Given the description of an element on the screen output the (x, y) to click on. 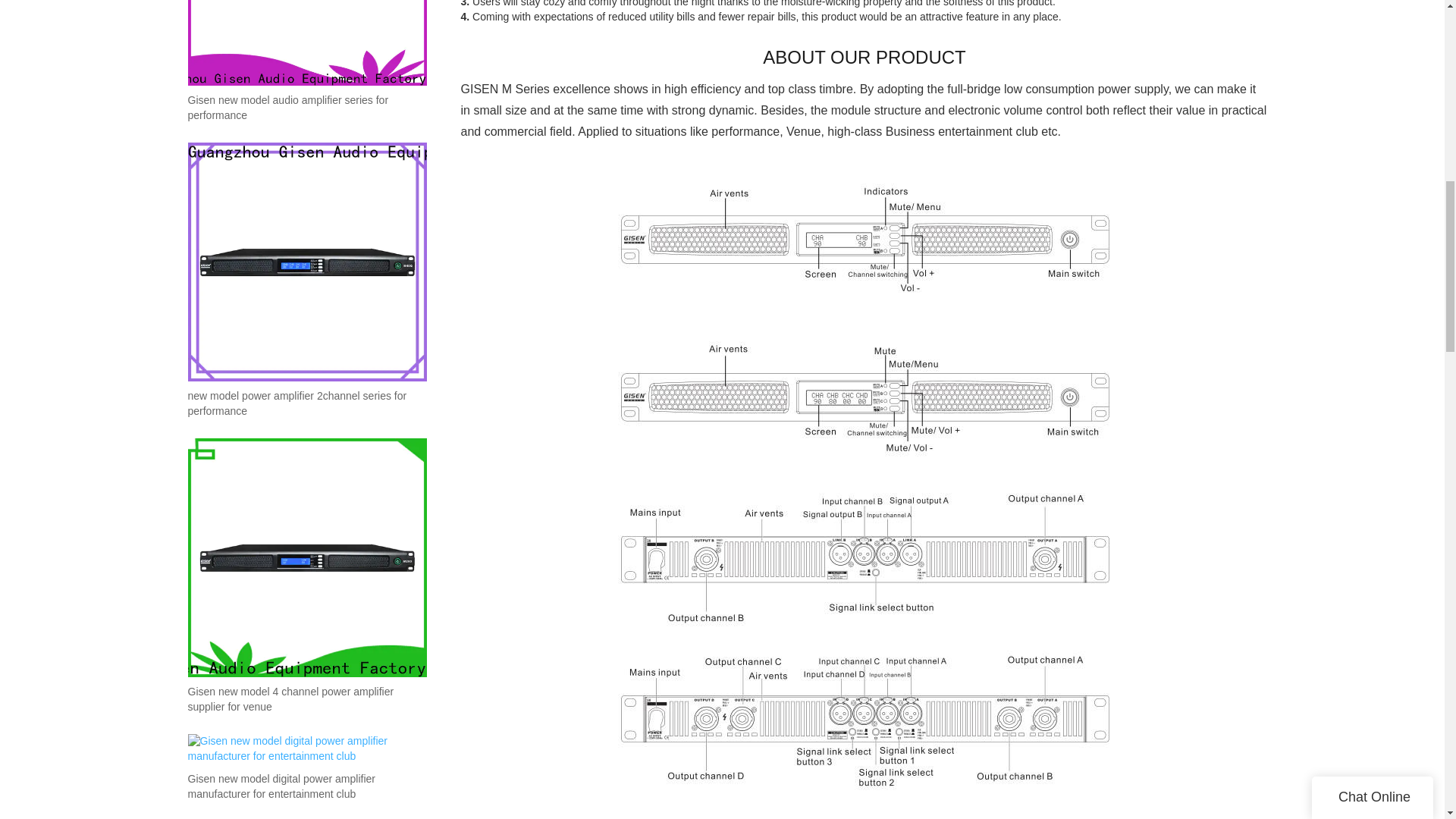
Gisen new model 4 channel power amplifier supplier for venue (306, 699)
new model power amplifier 2channel series for performance (306, 404)
Gisen new model 4 channel power amplifier supplier for venue (306, 699)
Gisen new model audio amplifier series for performance (306, 108)
new model power amplifier 2channel series for performance (306, 404)
Gisen new model audio amplifier series for performance (306, 108)
